Given the description of an element on the screen output the (x, y) to click on. 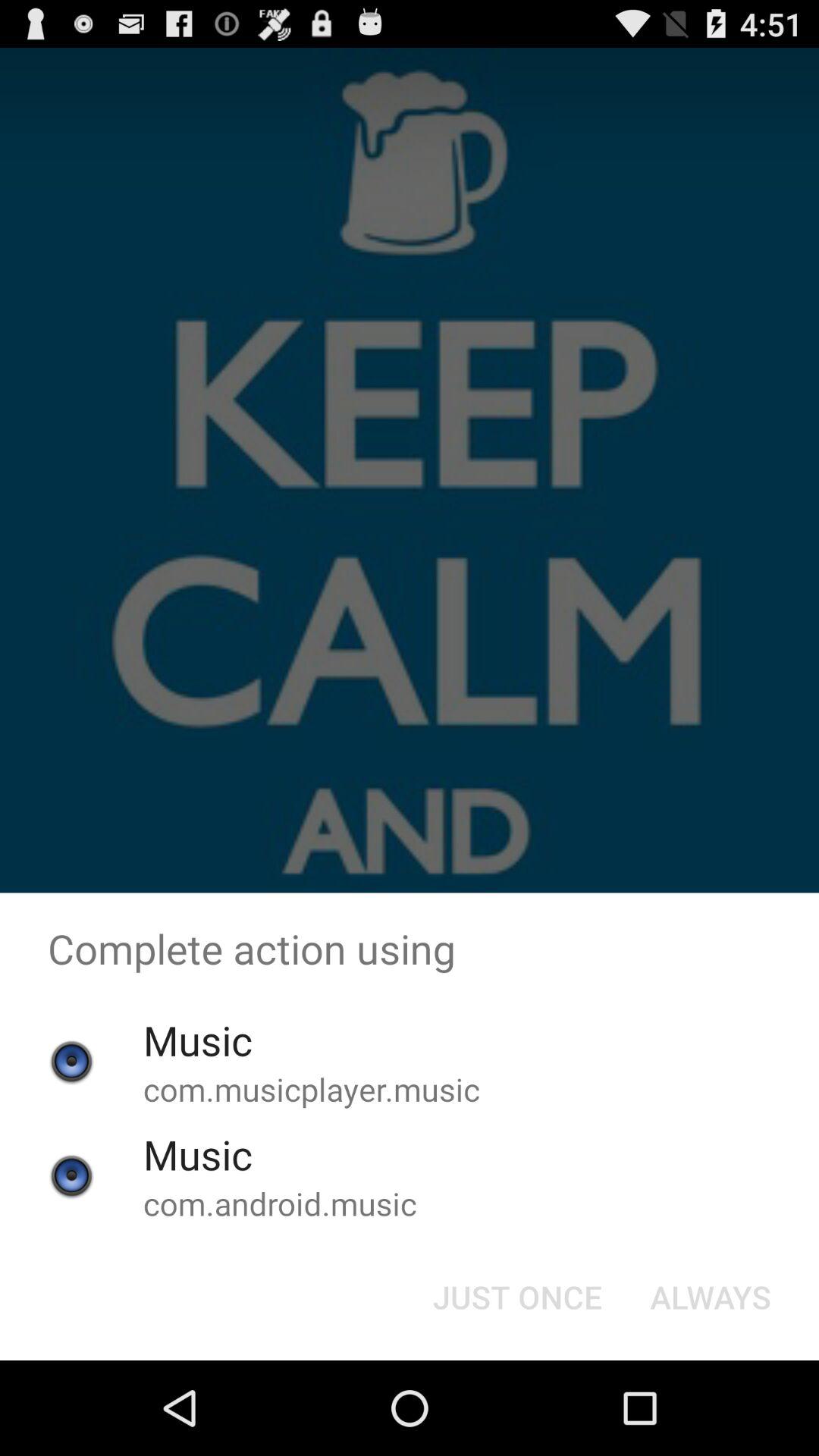
click the always button (710, 1296)
